Given the description of an element on the screen output the (x, y) to click on. 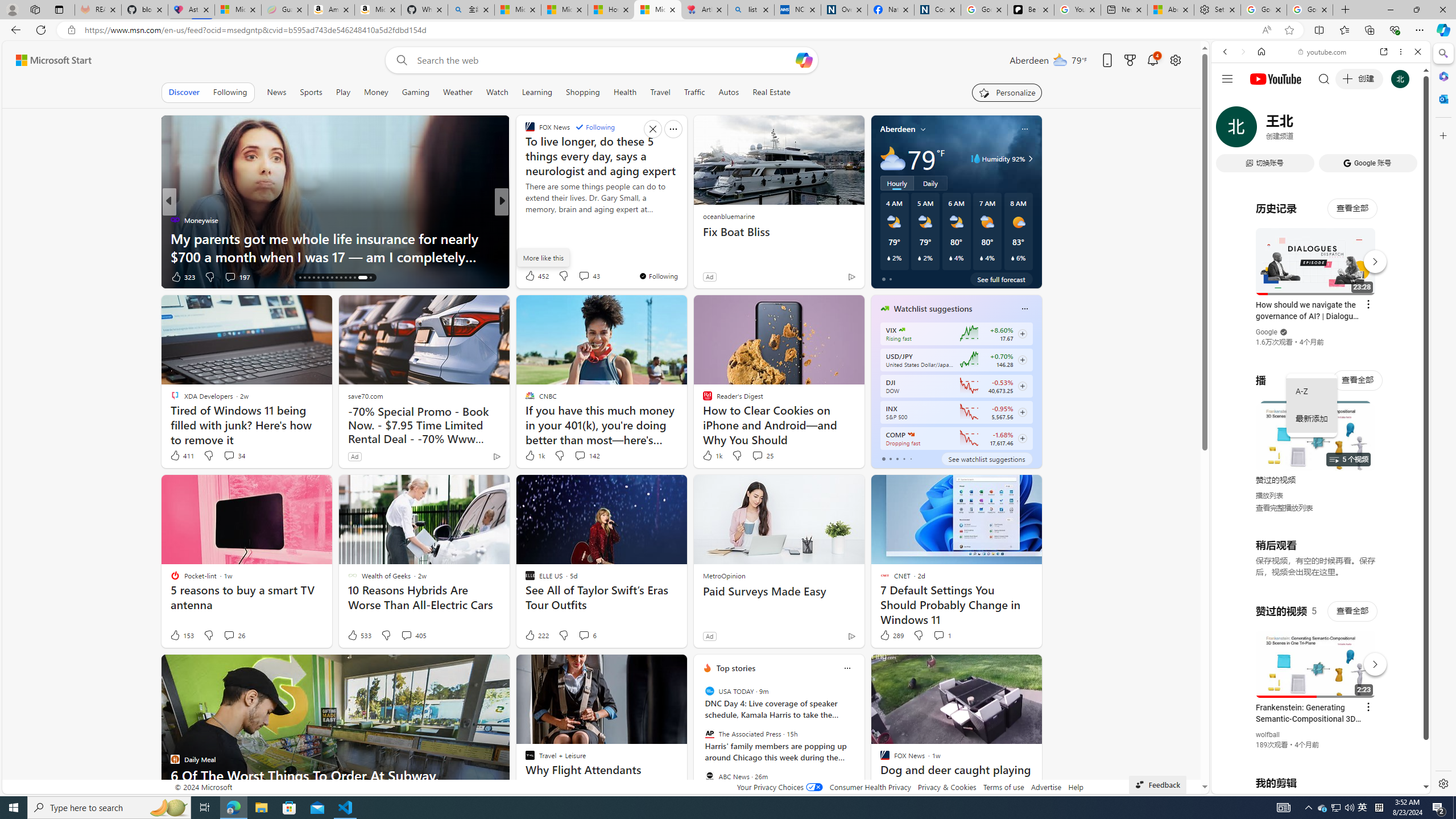
oceanbluemarine (727, 215)
Trailer #2 [HD] (1320, 336)
Learning (536, 92)
How I Got Rid of Microsoft Edge's Unnecessary Features (610, 9)
